Given the description of an element on the screen output the (x, y) to click on. 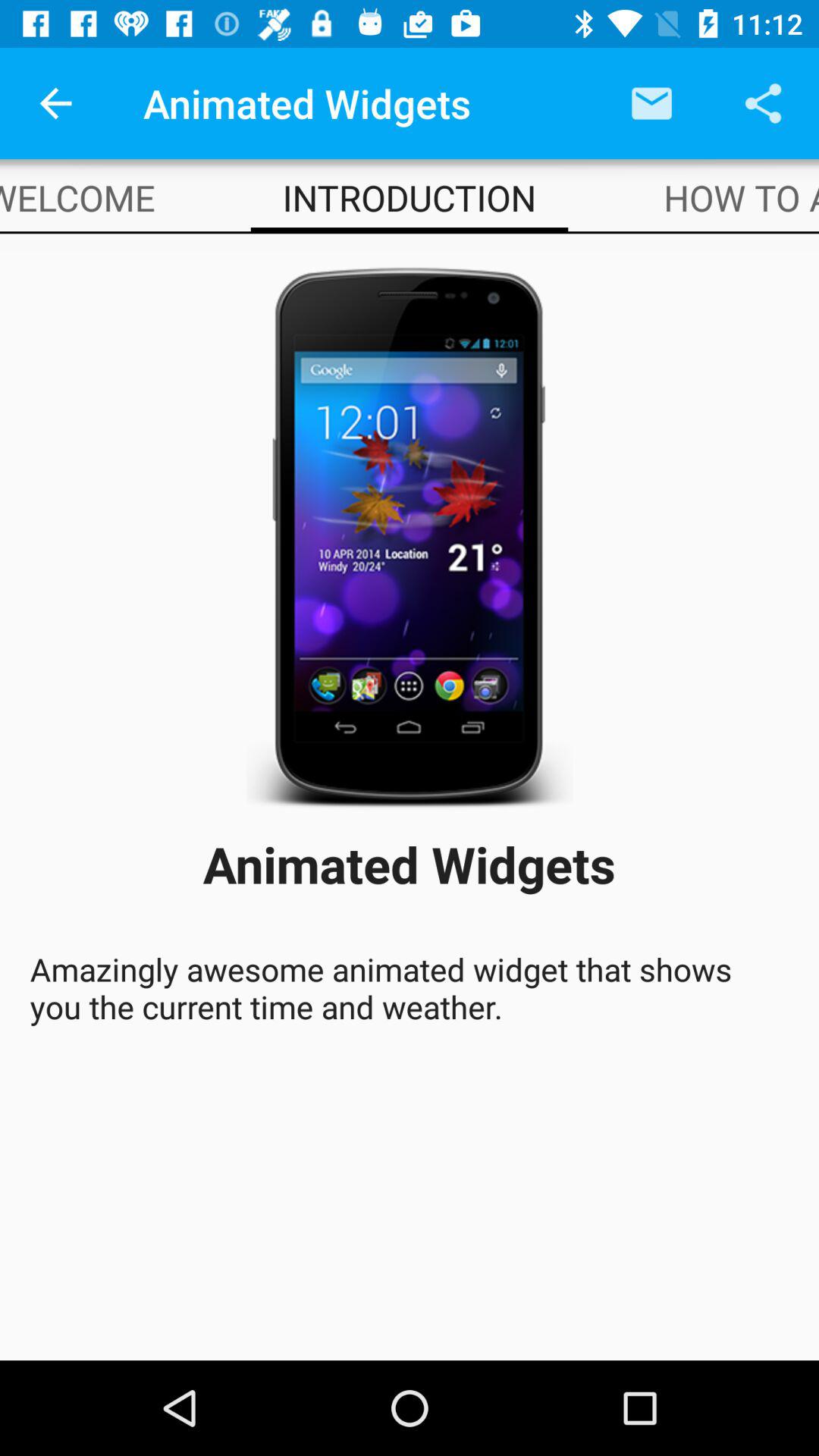
tap app below introduction (409, 532)
